Given the description of an element on the screen output the (x, y) to click on. 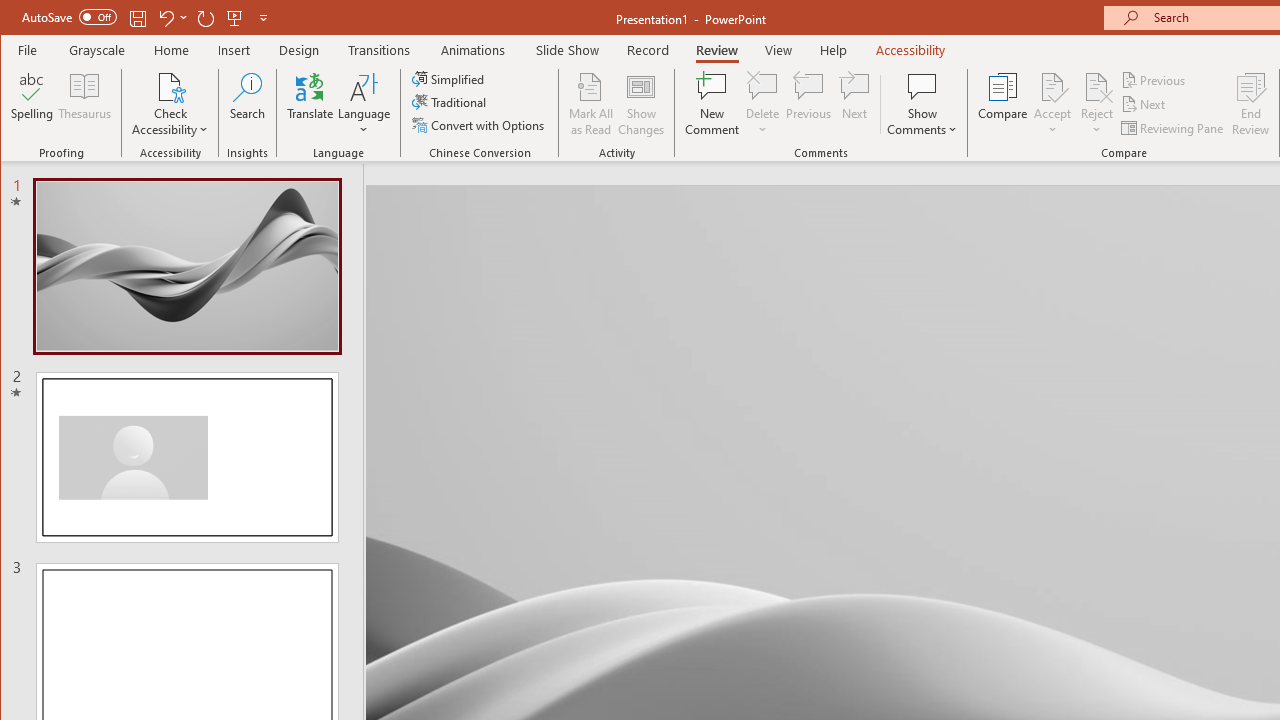
End Review (1251, 104)
Translate (310, 104)
Show Changes (640, 104)
Next (1144, 103)
Language (363, 104)
